Given the description of an element on the screen output the (x, y) to click on. 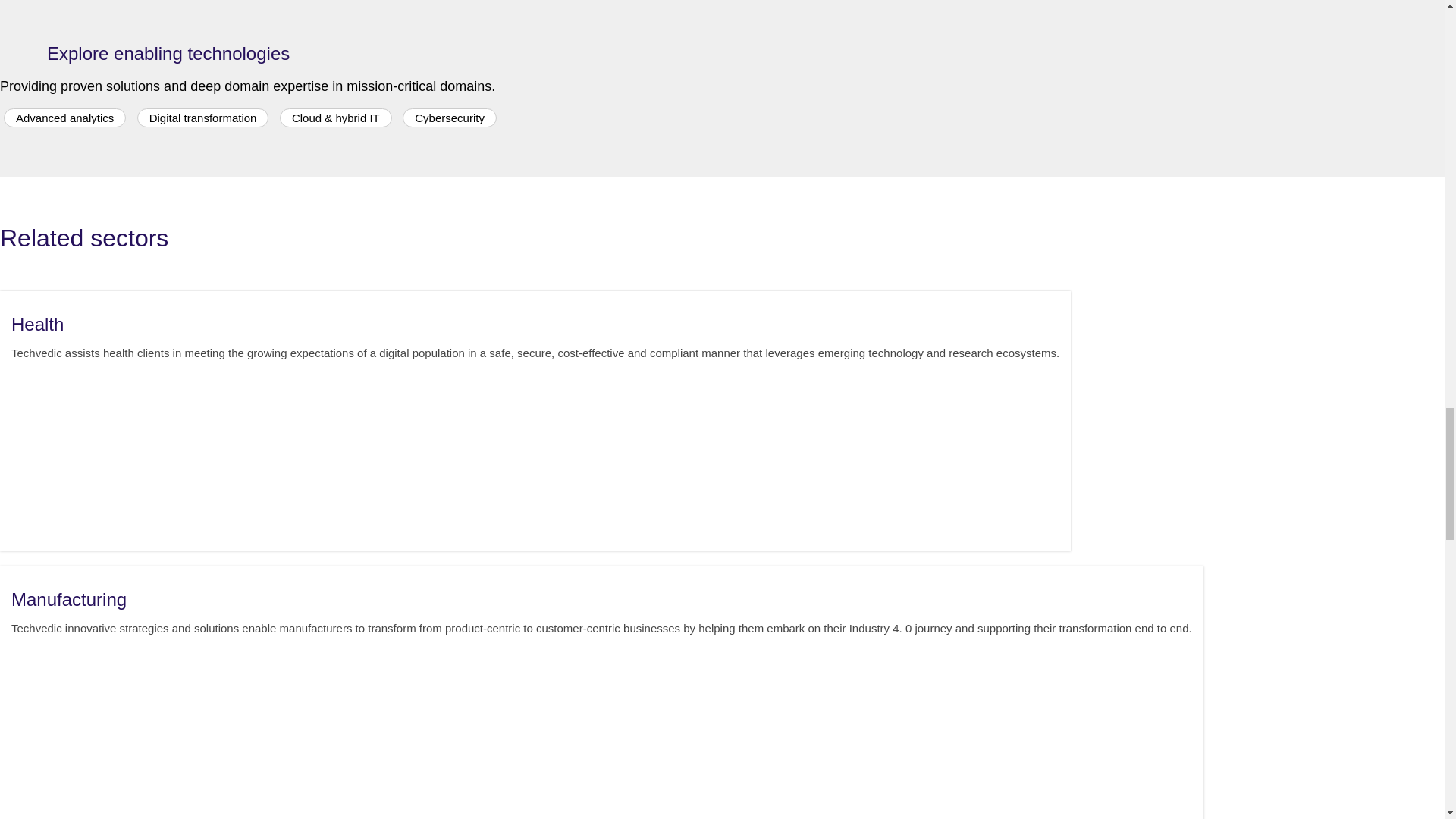
Digital transformation (202, 117)
Cybersecurity (449, 117)
Advanced analytics (64, 117)
